Given the description of an element on the screen output the (x, y) to click on. 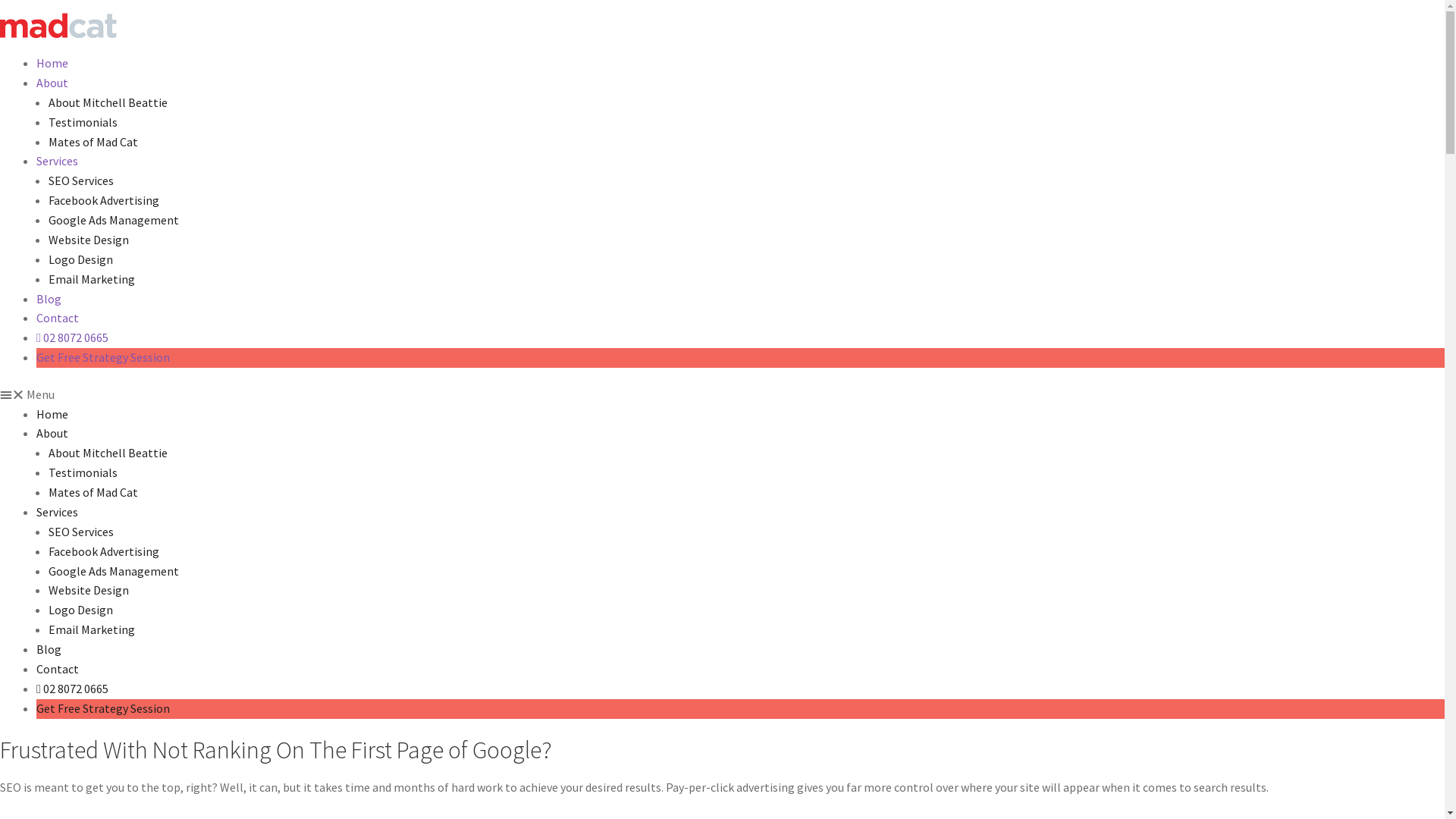
Email Marketing Element type: text (91, 278)
Blog Element type: text (48, 298)
Email Marketing Element type: text (91, 629)
Home Element type: text (52, 413)
About Element type: text (52, 82)
Get Free Strategy Session Element type: text (102, 356)
Facebook Advertising Element type: text (103, 199)
Blog Element type: text (48, 648)
Facebook Advertising Element type: text (103, 550)
Logo Design Element type: text (80, 609)
SEO Services Element type: text (80, 531)
Google Ads Management Element type: text (113, 570)
Contact Element type: text (57, 317)
Testimonials Element type: text (82, 472)
About Mitchell Beattie Element type: text (107, 452)
About Mitchell Beattie Element type: text (107, 101)
Contact Element type: text (57, 668)
Services Element type: text (57, 160)
Mates of Mad Cat Element type: text (93, 491)
Services Element type: text (57, 511)
Mates of Mad Cat Element type: text (93, 140)
Google Ads Management Element type: text (113, 219)
Testimonials Element type: text (82, 121)
Home Element type: text (52, 62)
Get Free Strategy Session Element type: text (102, 707)
Website Design Element type: text (88, 239)
Website Design Element type: text (88, 589)
Logo Design Element type: text (80, 258)
About Element type: text (52, 432)
SEO Services Element type: text (80, 180)
